Given the description of an element on the screen output the (x, y) to click on. 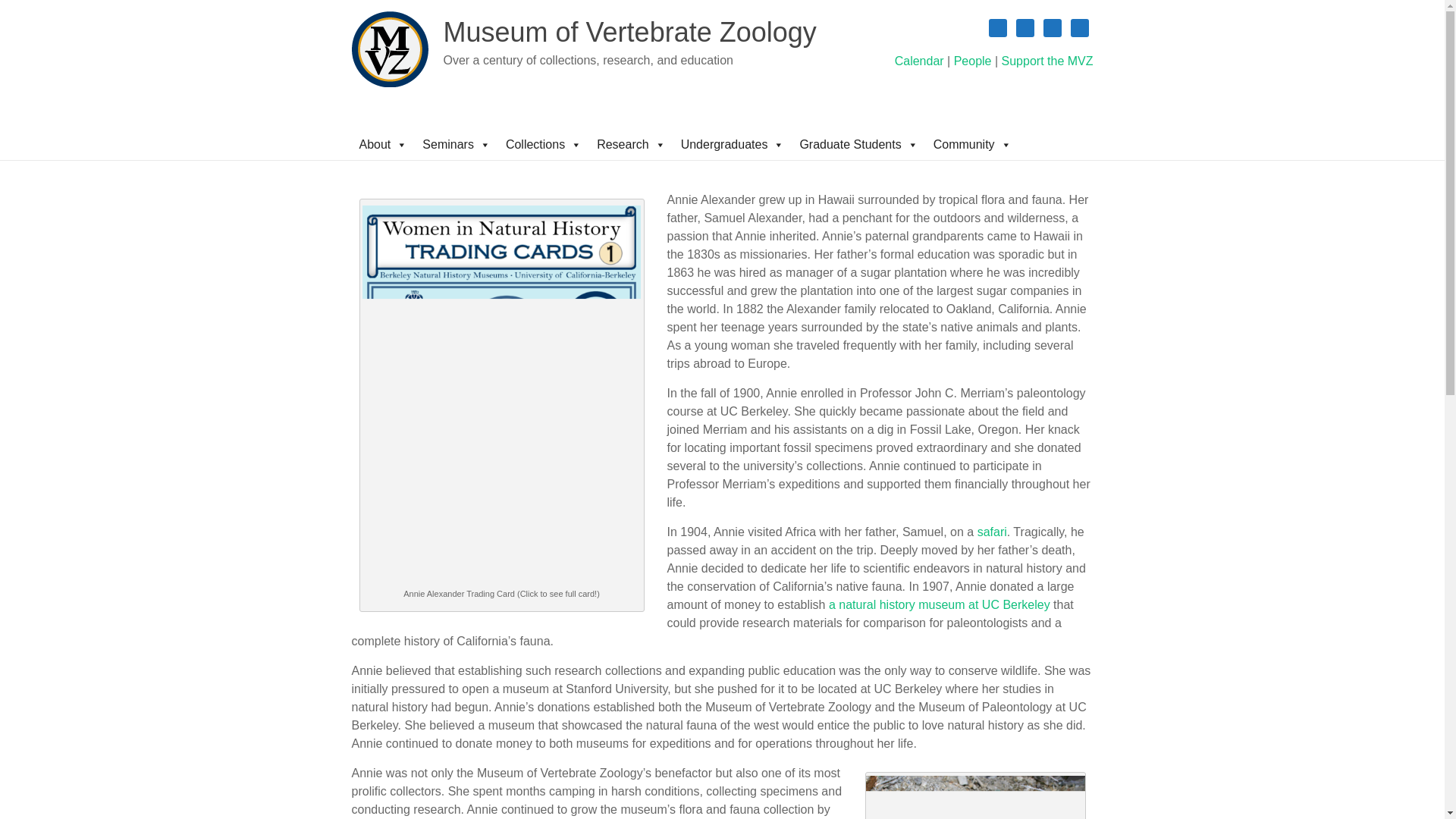
People (972, 60)
Calendar (919, 60)
Support the MVZ (1047, 60)
Collections (543, 144)
Research (630, 144)
Museum of Vertebrate Zoology (628, 31)
About (383, 144)
Undergraduates (732, 144)
Seminars (455, 144)
Museum of Vertebrate Zoology (628, 31)
